Given the description of an element on the screen output the (x, y) to click on. 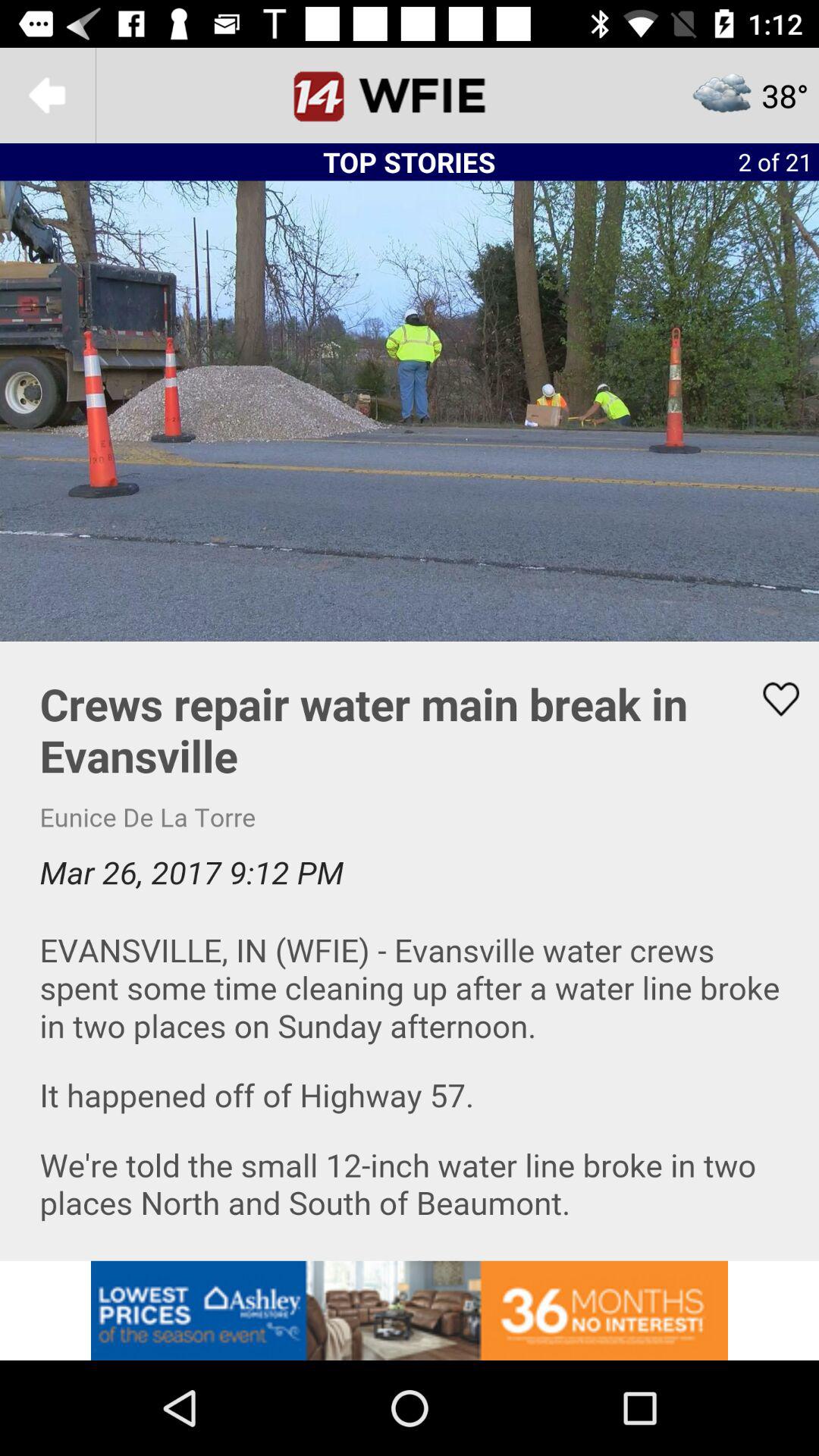
like post (771, 699)
